Given the description of an element on the screen output the (x, y) to click on. 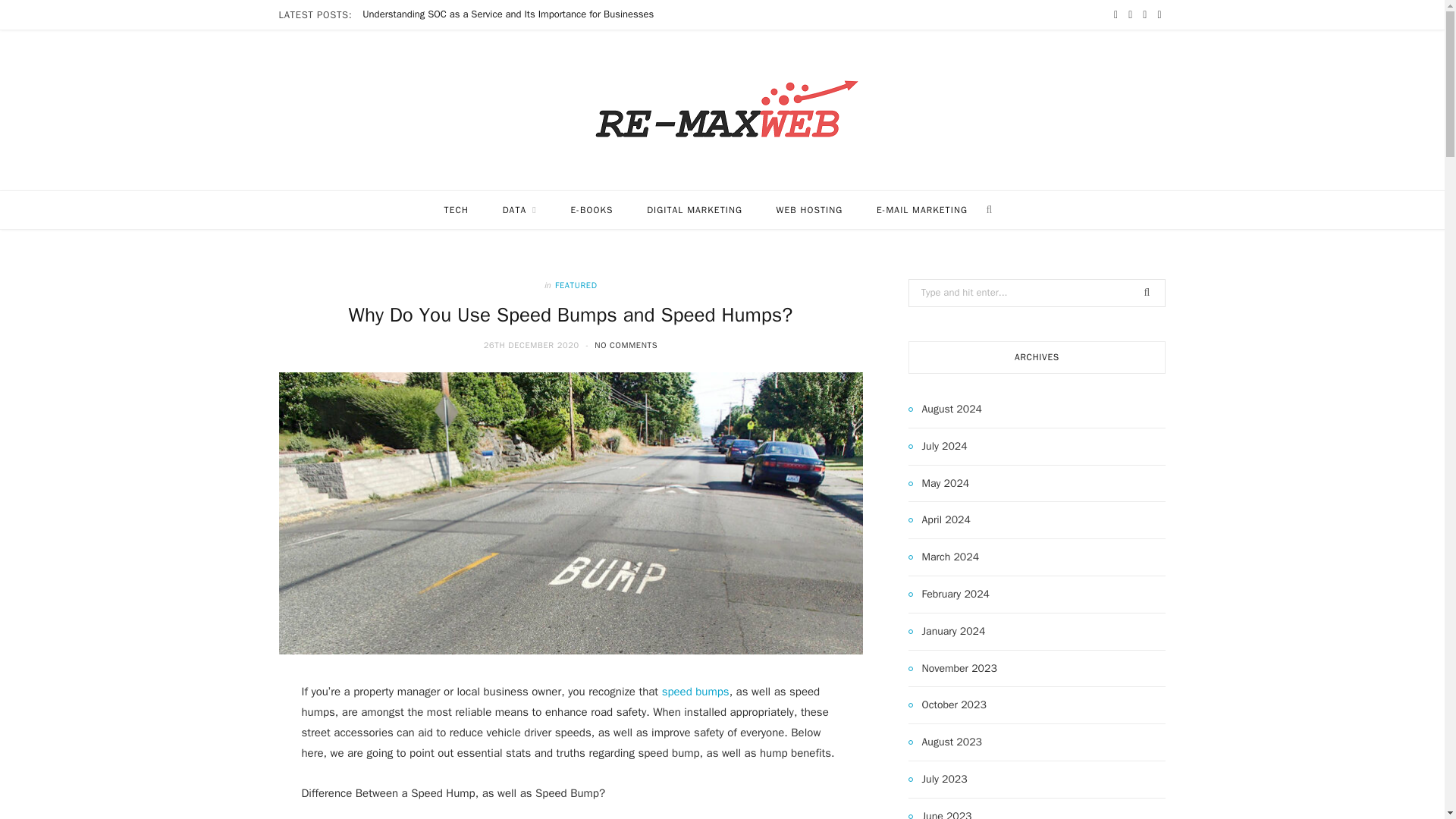
E-MAIL MARKETING (921, 210)
April 2024 (939, 520)
speed bumps (695, 691)
DIGITAL MARKETING (694, 210)
Re-maxweb (722, 110)
DATA (519, 210)
NO COMMENTS (626, 344)
WEB HOSTING (810, 210)
